Given the description of an element on the screen output the (x, y) to click on. 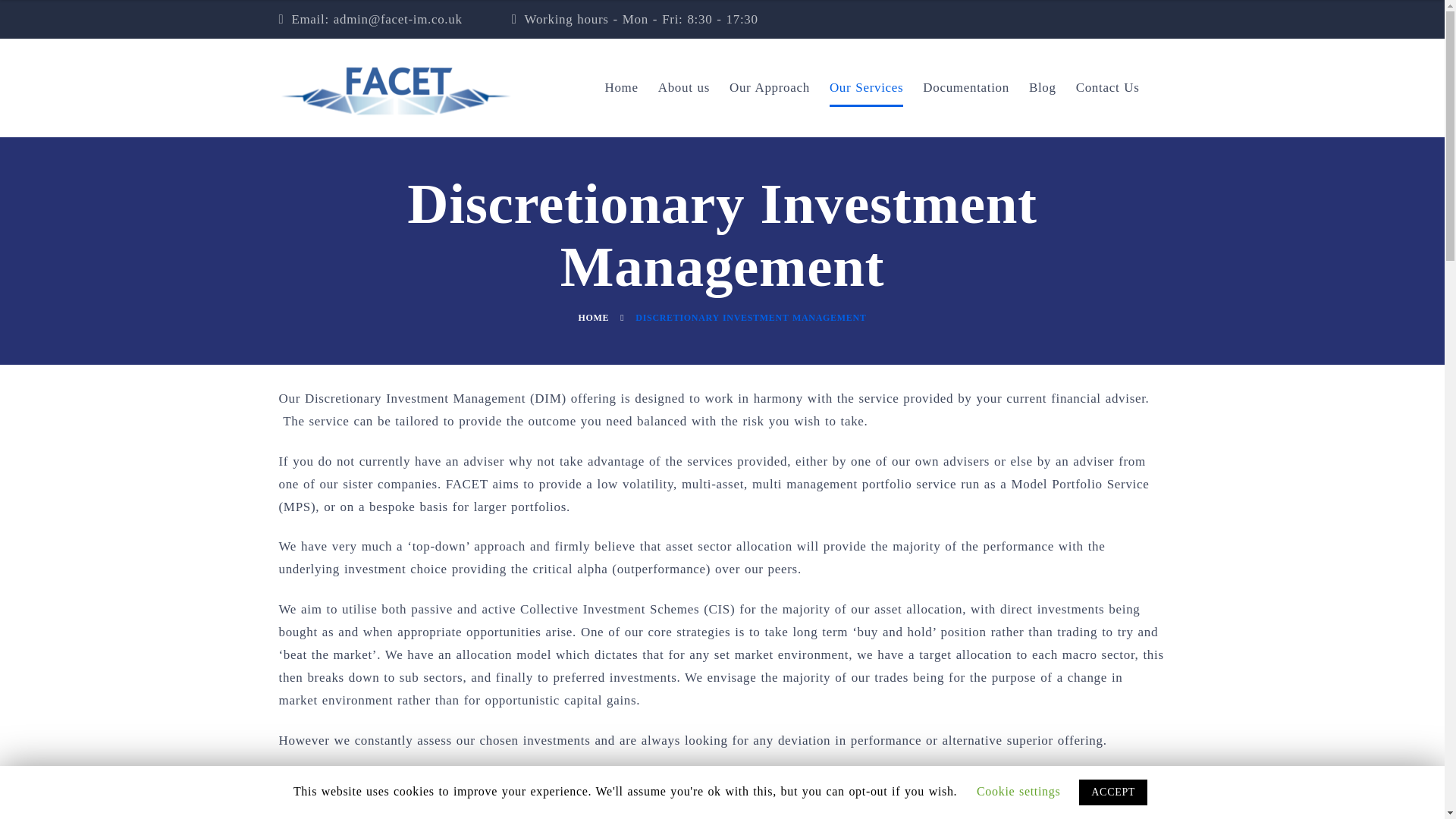
Our Services (865, 87)
Documentation (966, 87)
Contact Us (1107, 87)
About us (684, 87)
Our Approach (769, 87)
